Given the description of an element on the screen output the (x, y) to click on. 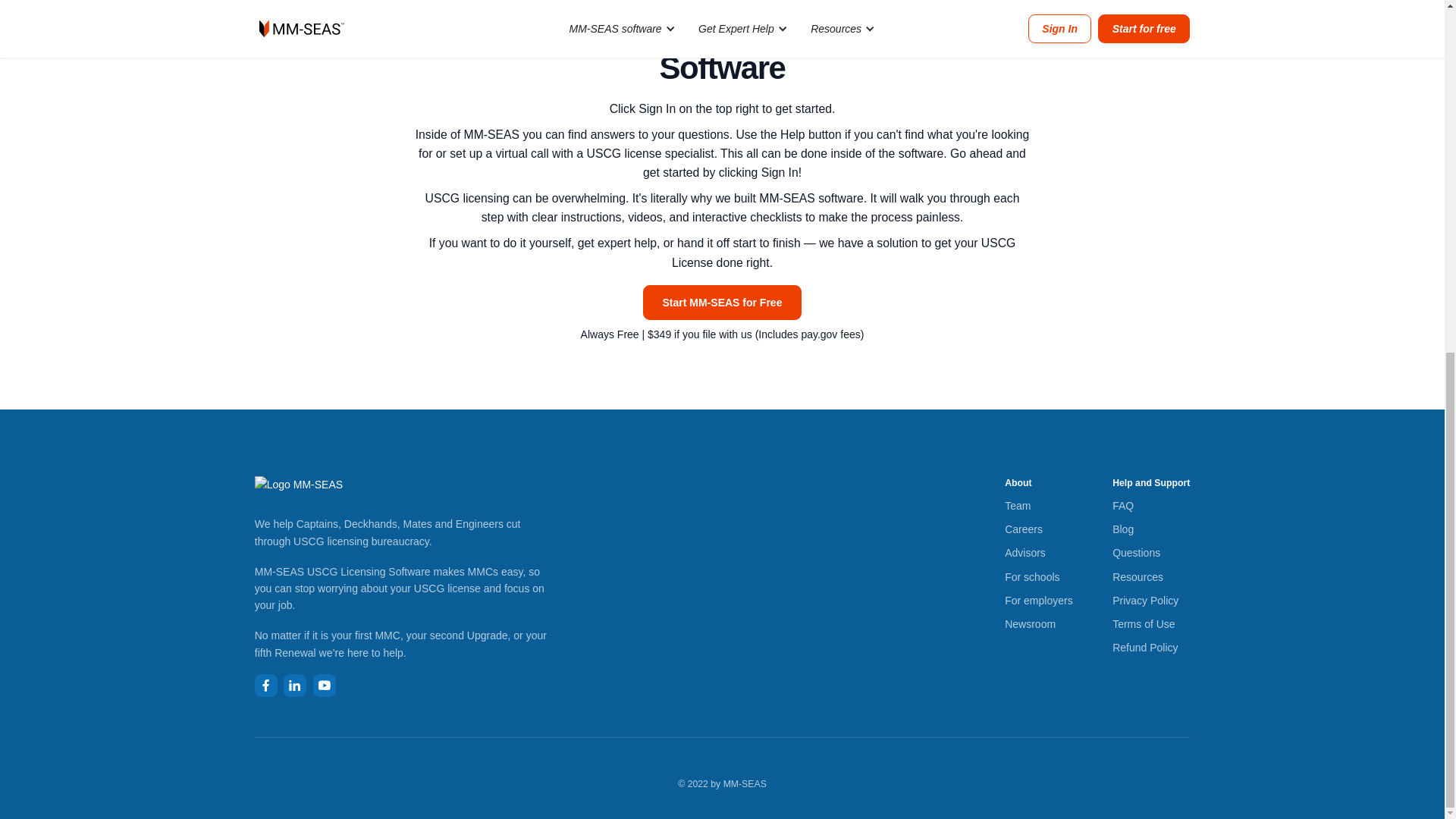
Questions (1136, 552)
For employers (1037, 600)
For schools (1031, 576)
Advisors (1024, 552)
Terms of Use (1143, 623)
Newsroom (1029, 623)
Blog (1123, 528)
Refund Policy (1144, 647)
Start MM-SEAS for Free (722, 302)
FAQ (1123, 505)
